Given the description of an element on the screen output the (x, y) to click on. 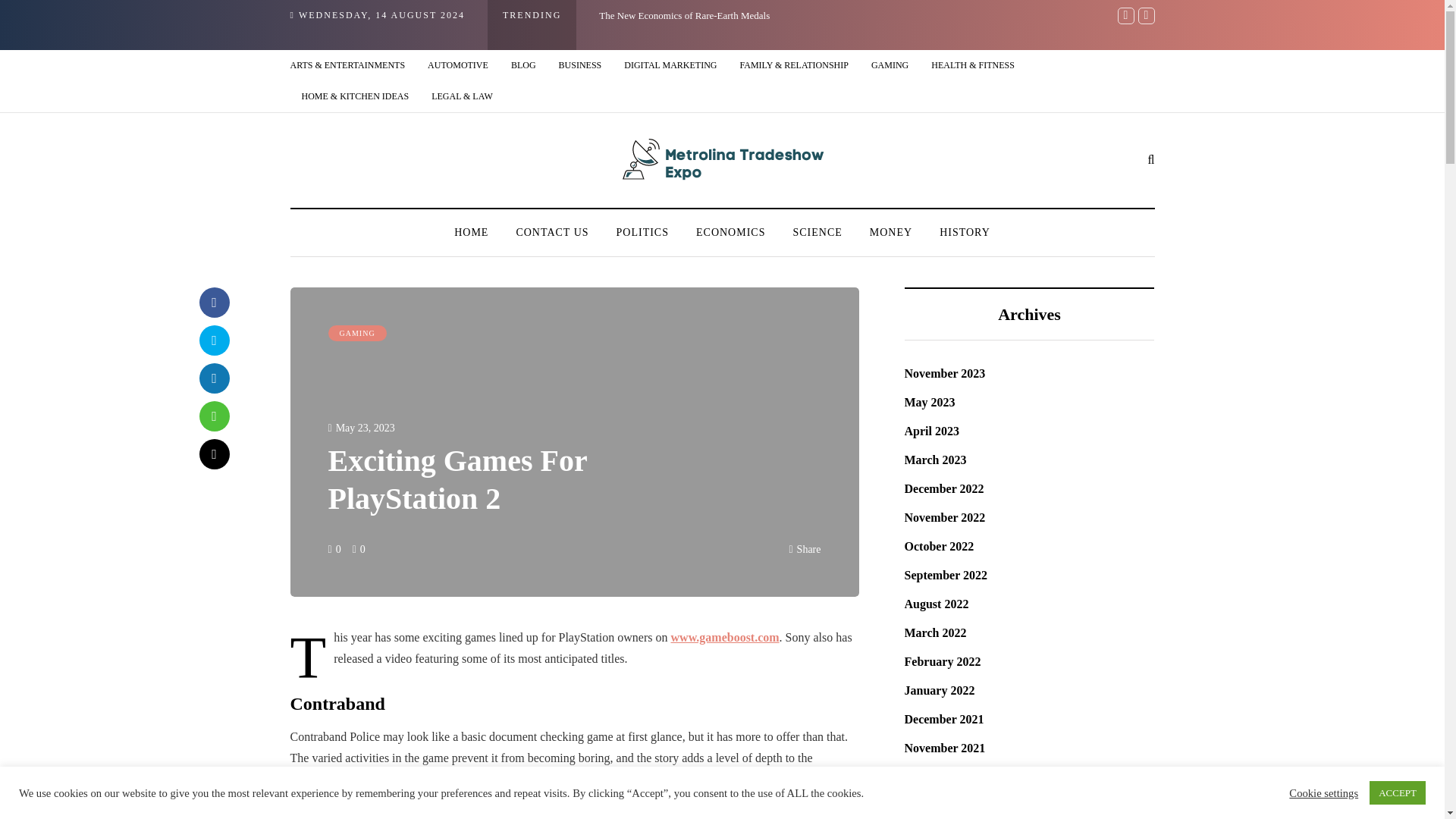
HISTORY (965, 232)
Share with LinkedIn (213, 377)
GAMING (890, 65)
Gas Priceing and Politics (1202, 15)
HOME (471, 232)
AUTOMOTIVE (457, 65)
Share to WhatsApp (213, 415)
BLOG (523, 65)
Share by Email (213, 453)
BUSINESS (579, 65)
